Given the description of an element on the screen output the (x, y) to click on. 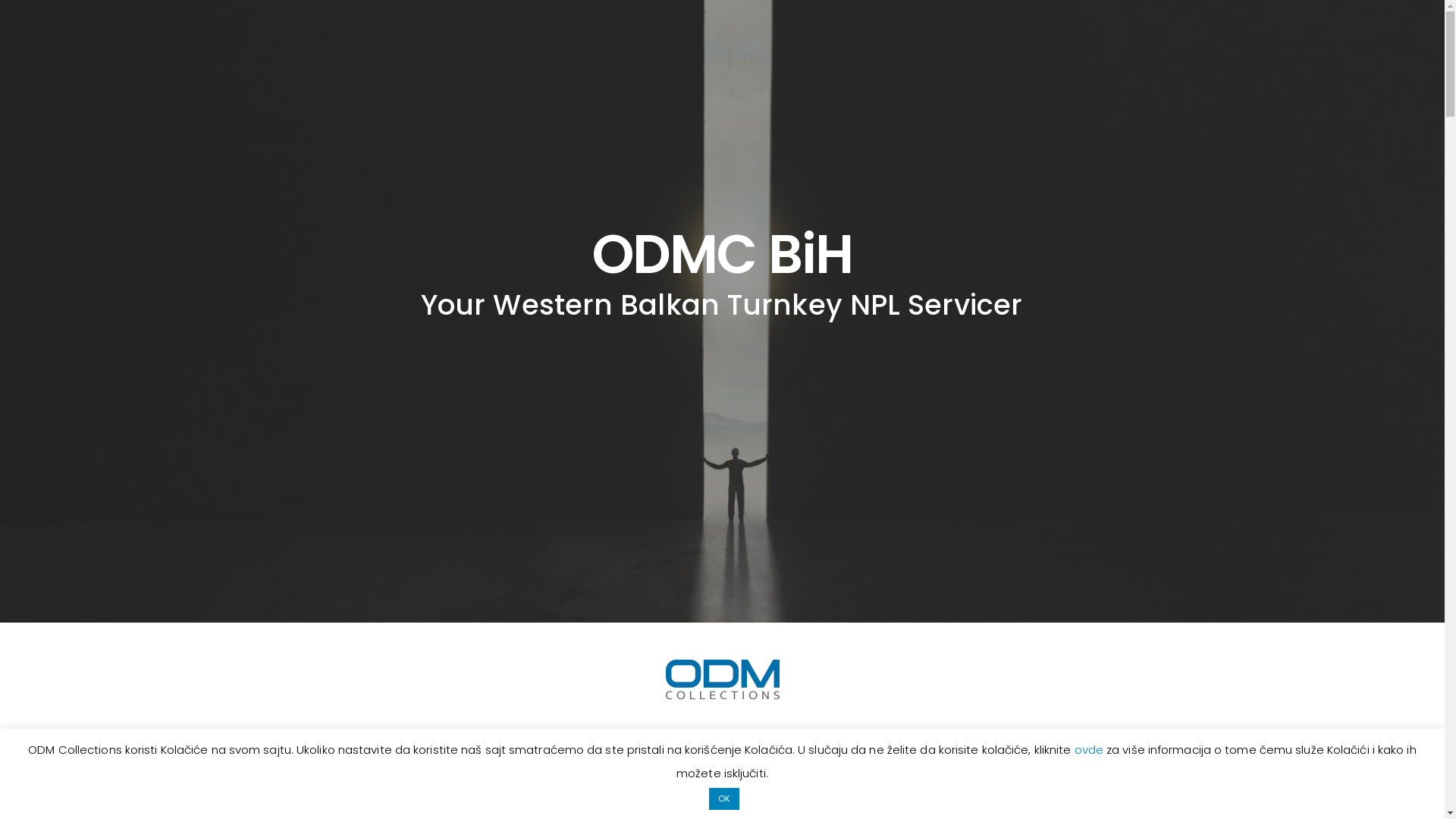
odm fav-1 Element type: hover (722, 679)
ovde Element type: text (1090, 749)
OK Element type: text (724, 798)
